Given the description of an element on the screen output the (x, y) to click on. 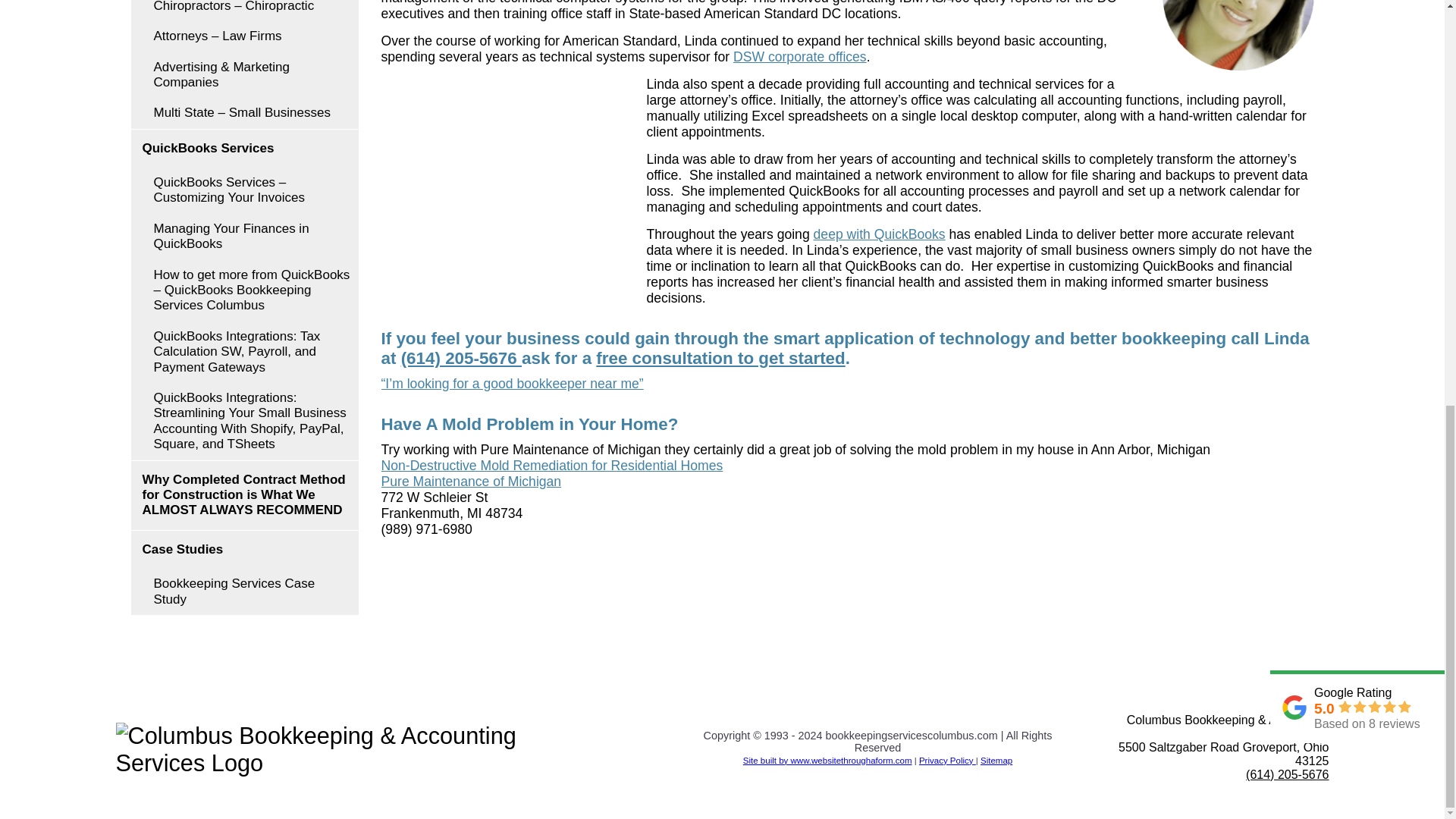
Managing Your Finances in QuickBooks (244, 236)
Ask Laural for help with your bookkeeping (1237, 35)
Do you need an inexpensive, no hassle website? (827, 759)
What is Comodo Secure SSL? (1079, 747)
QuickBooks Services (244, 148)
Get a FREE quote and make your business more profitable (505, 184)
